Given the description of an element on the screen output the (x, y) to click on. 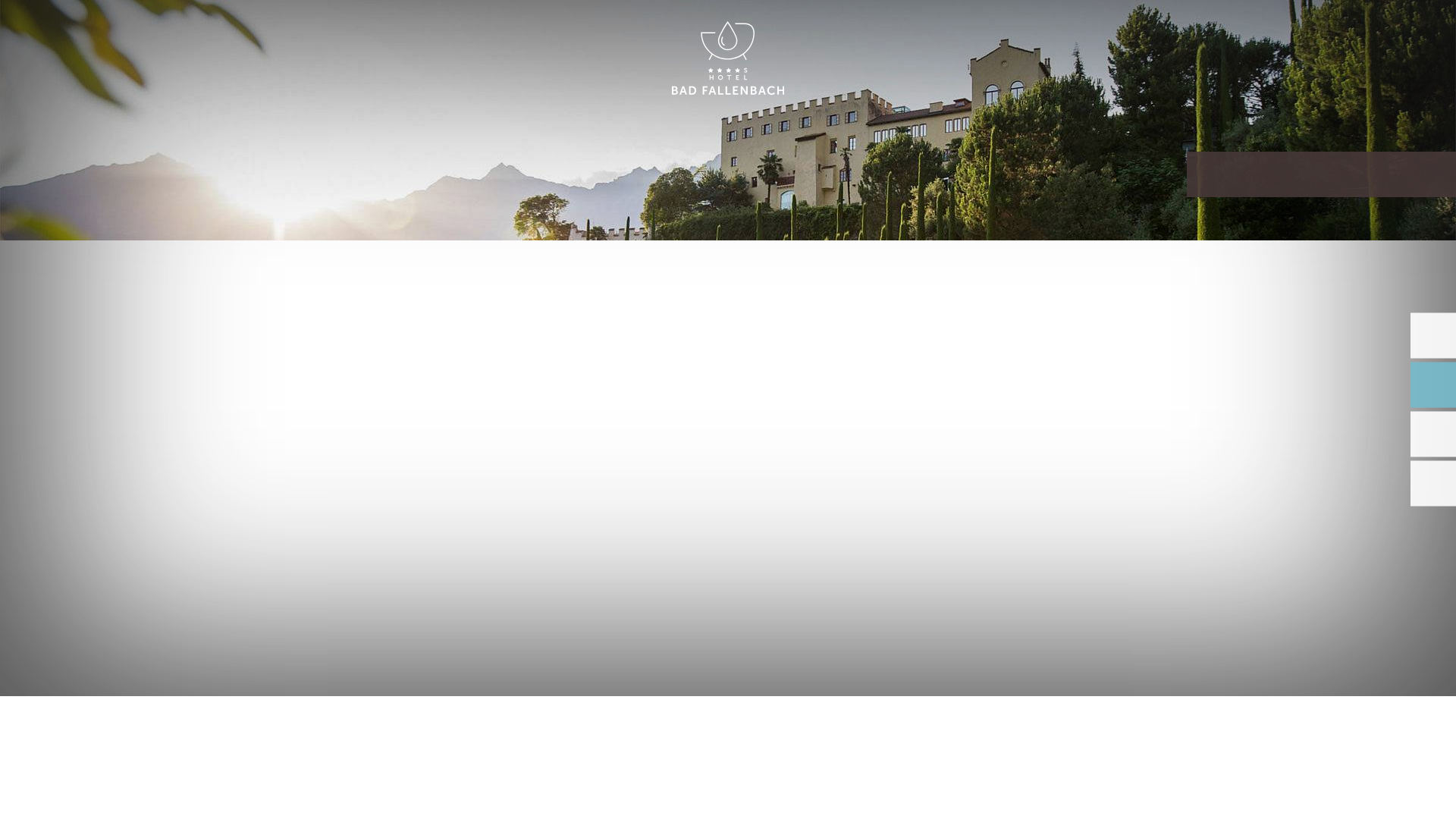
ENGLISH (1291, 29)
HOTEL BAD FALLENBACH (727, 59)
